Given the description of an element on the screen output the (x, y) to click on. 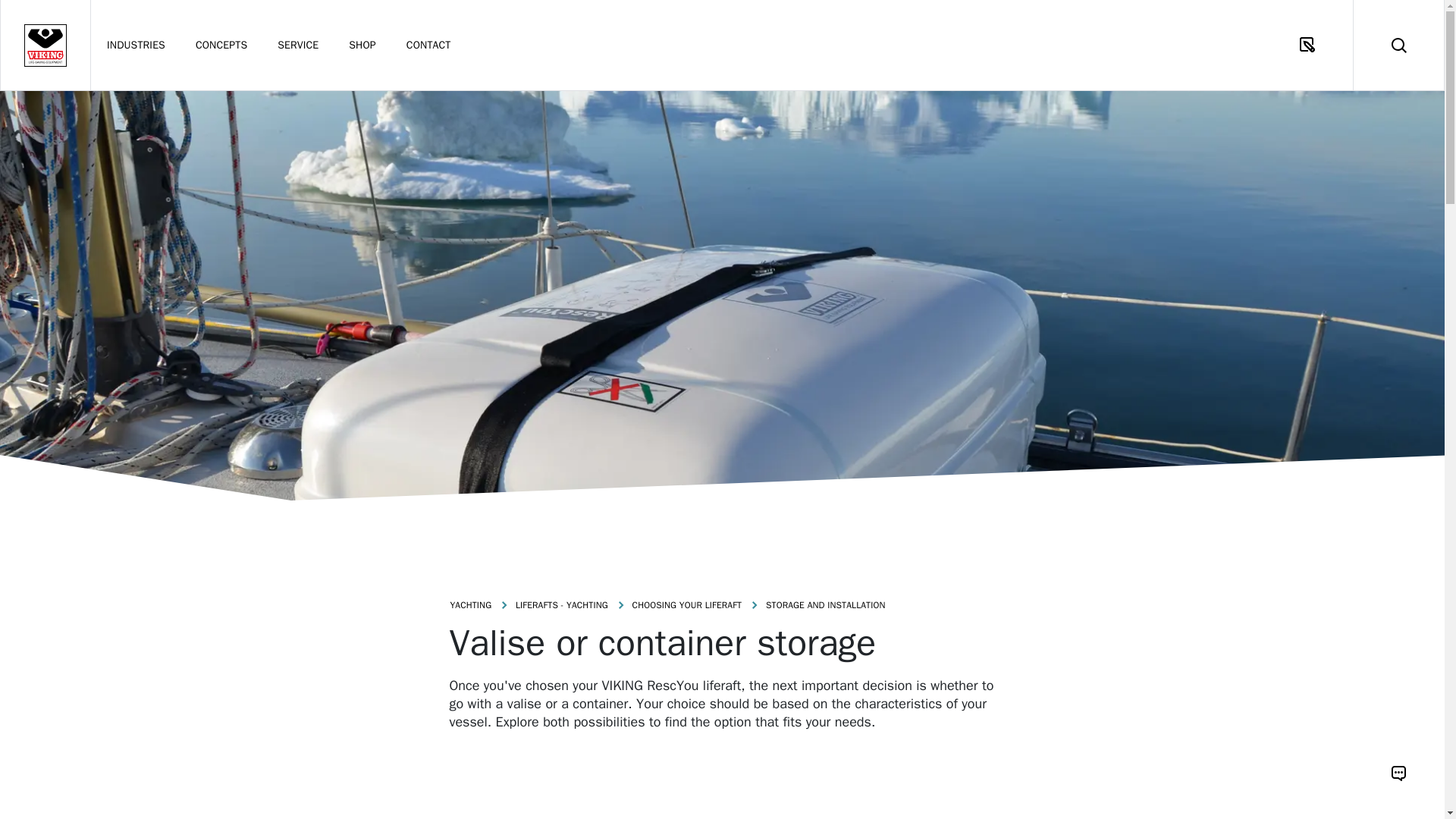
CONCEPTS (221, 45)
Front Page (45, 45)
Inquiry (1308, 45)
INDUSTRIES (135, 45)
